Given the description of an element on the screen output the (x, y) to click on. 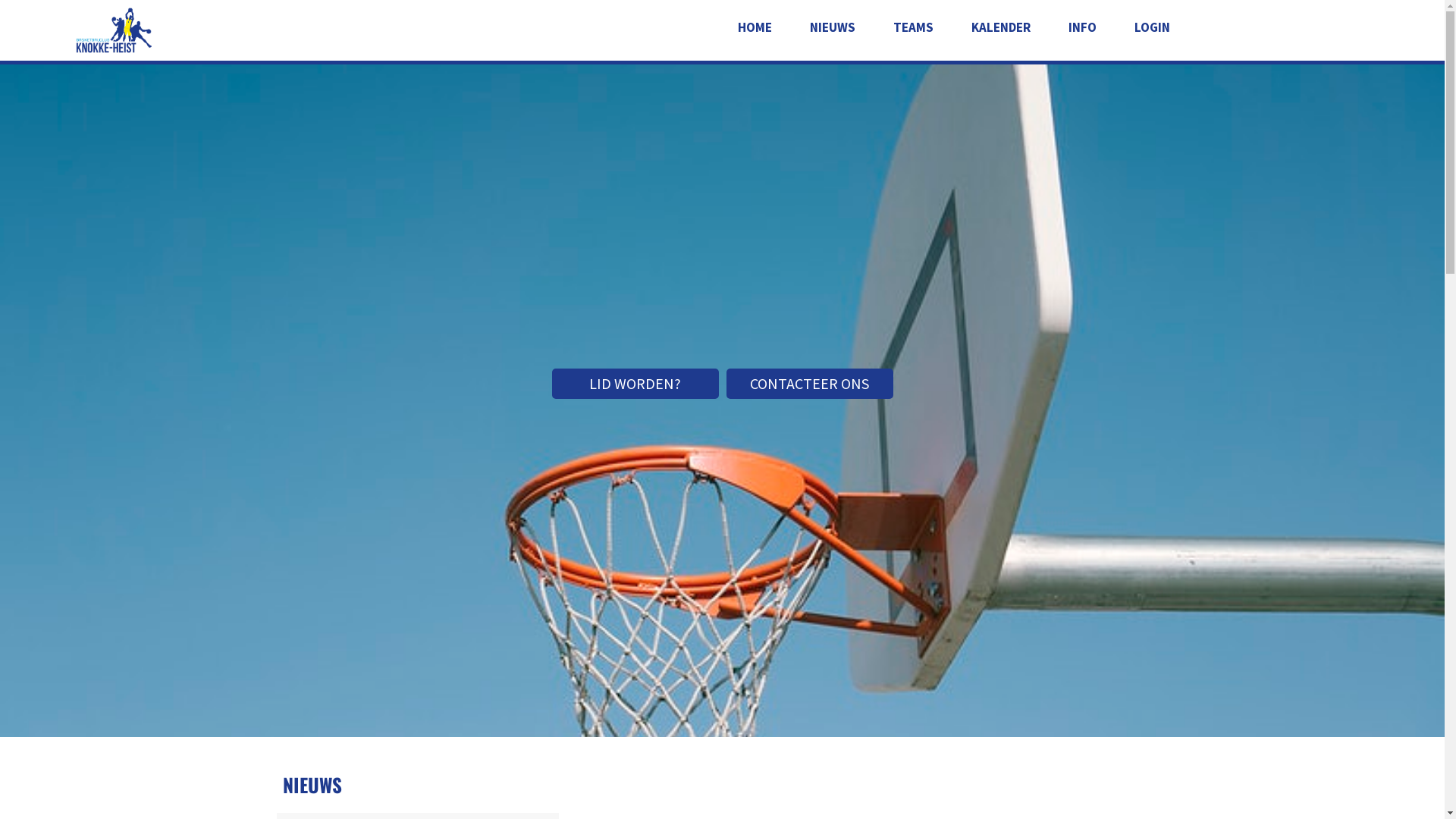
LOGIN Element type: text (1152, 27)
HOME Element type: text (754, 27)
NIEUWS Element type: text (832, 27)
INFO Element type: text (1081, 27)
TEAMS Element type: text (913, 27)
LID WORDEN? Element type: text (634, 382)
KALENDER Element type: text (999, 27)
CONTACTEER ONS Element type: text (809, 382)
